Given the description of an element on the screen output the (x, y) to click on. 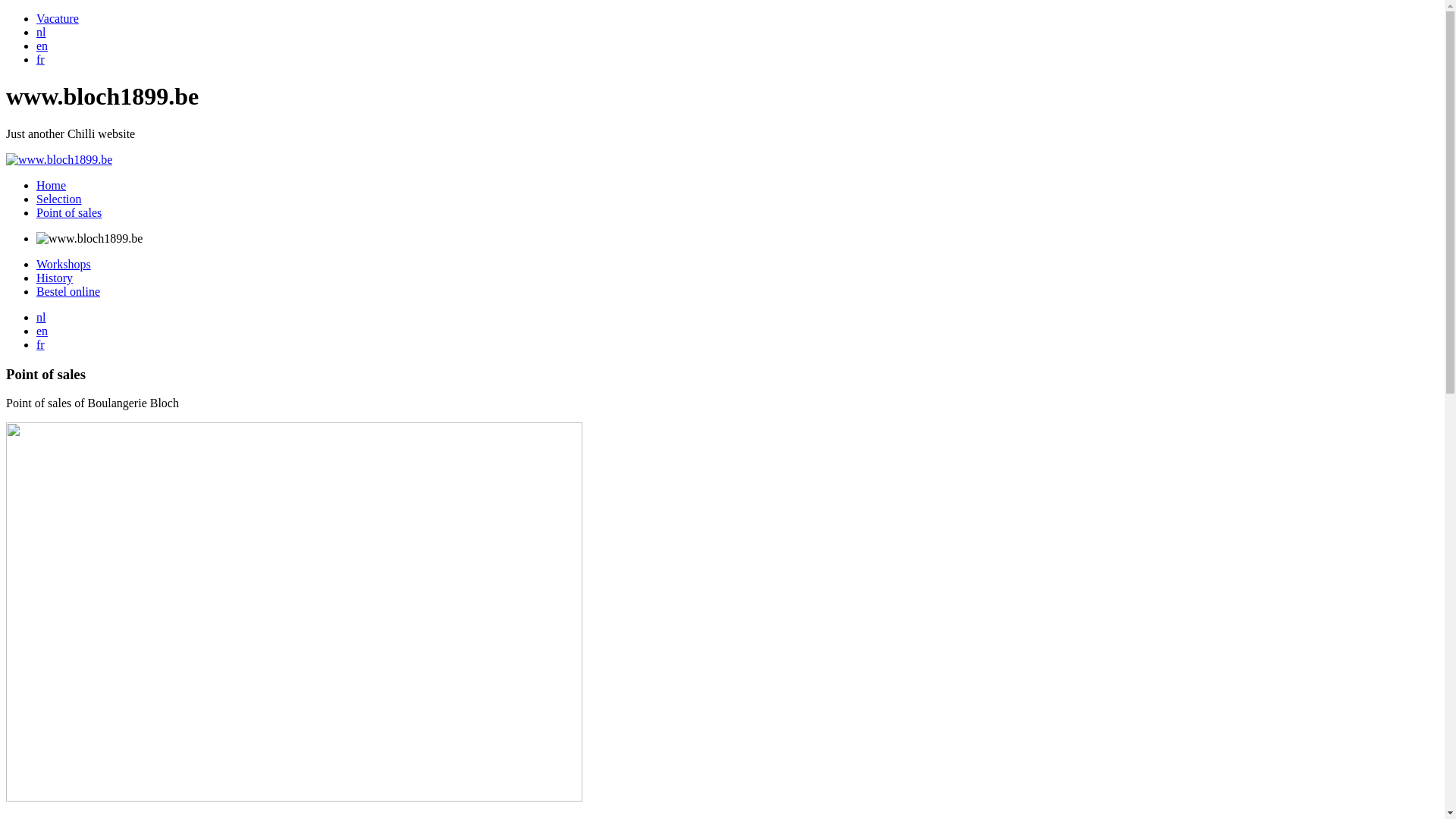
History Element type: text (54, 277)
Home Element type: text (50, 184)
Workshops Element type: text (63, 263)
Vacature Element type: text (57, 18)
Selection Element type: text (58, 198)
fr Element type: text (40, 344)
www.bloch1899.be Element type: hover (59, 159)
fr Element type: text (40, 59)
nl Element type: text (40, 31)
Bestel online Element type: text (68, 291)
en Element type: text (41, 45)
nl Element type: text (40, 316)
en Element type: text (41, 330)
Point of sales Element type: text (68, 212)
